Given the description of an element on the screen output the (x, y) to click on. 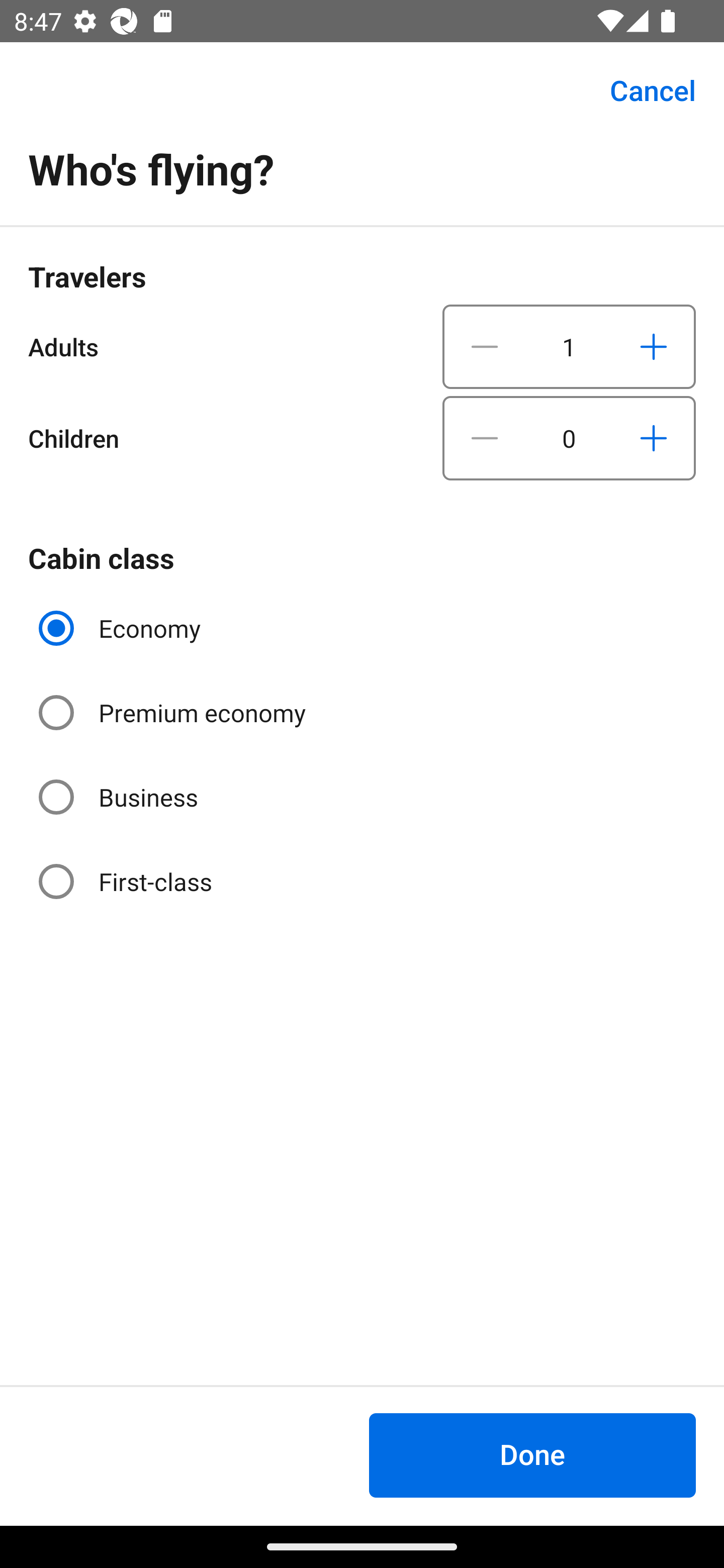
Cancel (641, 90)
Decrease (484, 346)
Increase (653, 346)
Decrease (484, 437)
Increase (653, 437)
Economy (121, 628)
Premium economy (174, 712)
Business (120, 796)
First-class (126, 880)
Done (532, 1454)
